Given the description of an element on the screen output the (x, y) to click on. 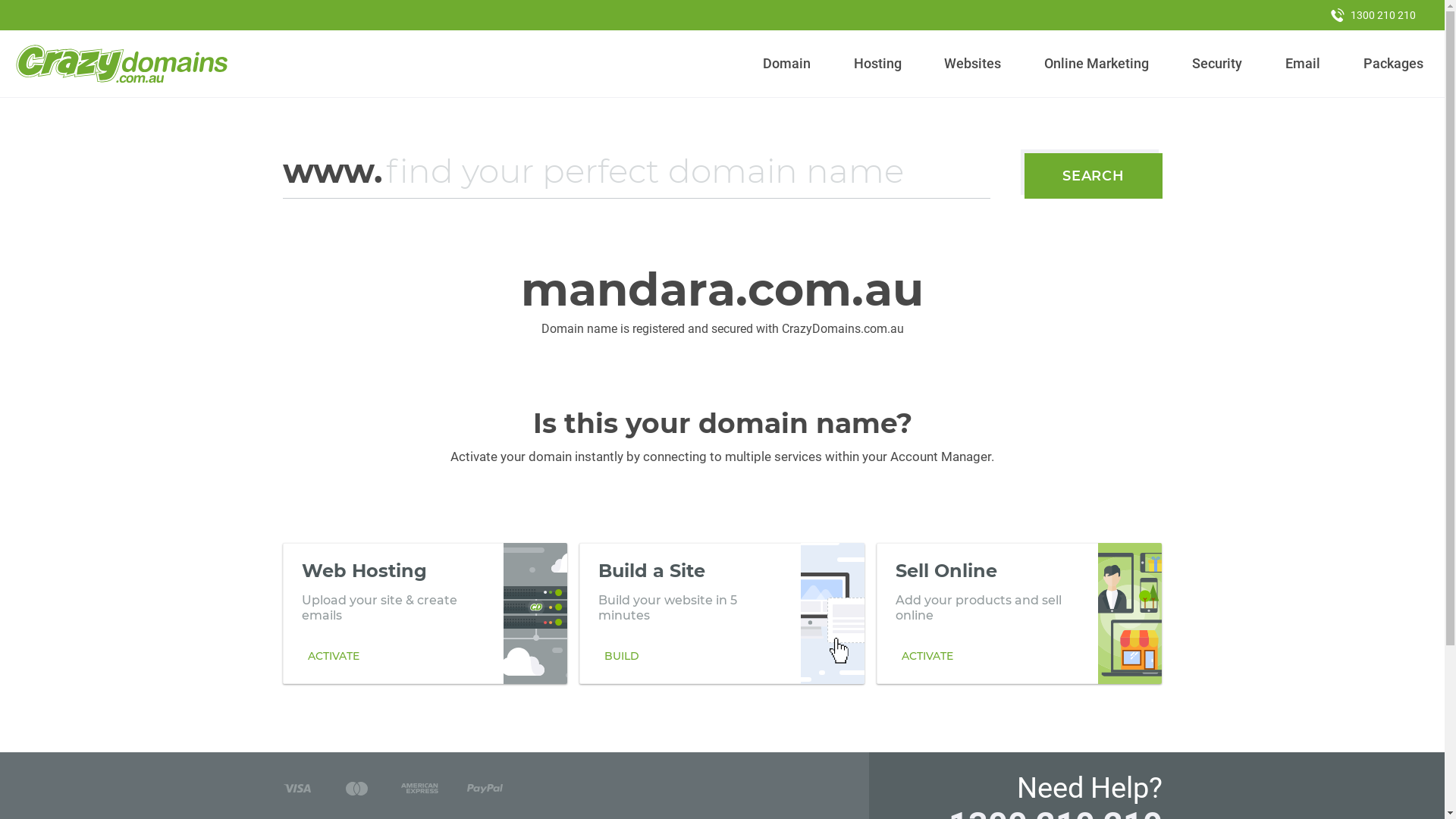
Web Hosting
Upload your site & create emails
ACTIVATE Element type: text (424, 613)
Sell Online
Add your products and sell online
ACTIVATE Element type: text (1018, 613)
Build a Site
Build your website in 5 minutes
BUILD Element type: text (721, 613)
1300 210 210 Element type: text (1373, 15)
Domain Element type: text (786, 63)
Email Element type: text (1302, 63)
Hosting Element type: text (877, 63)
Websites Element type: text (972, 63)
SEARCH Element type: text (1092, 175)
Security Element type: text (1217, 63)
Online Marketing Element type: text (1096, 63)
Packages Element type: text (1392, 63)
